Given the description of an element on the screen output the (x, y) to click on. 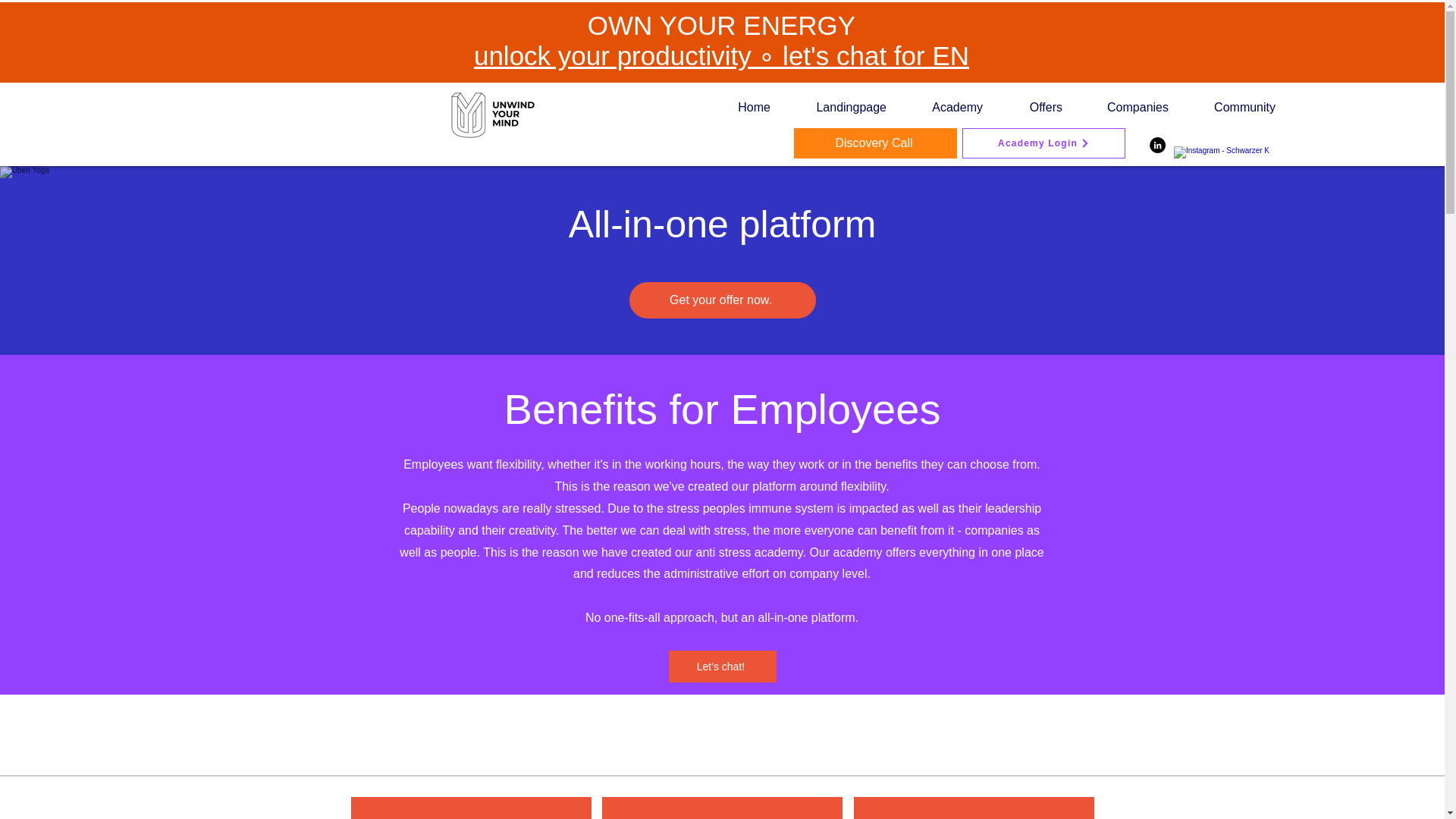
Let's chat! (722, 666)
Get your offer now. (721, 299)
Discovery Call (874, 142)
Landingpage (840, 107)
Academy Login (1043, 142)
Home (742, 107)
